Given the description of an element on the screen output the (x, y) to click on. 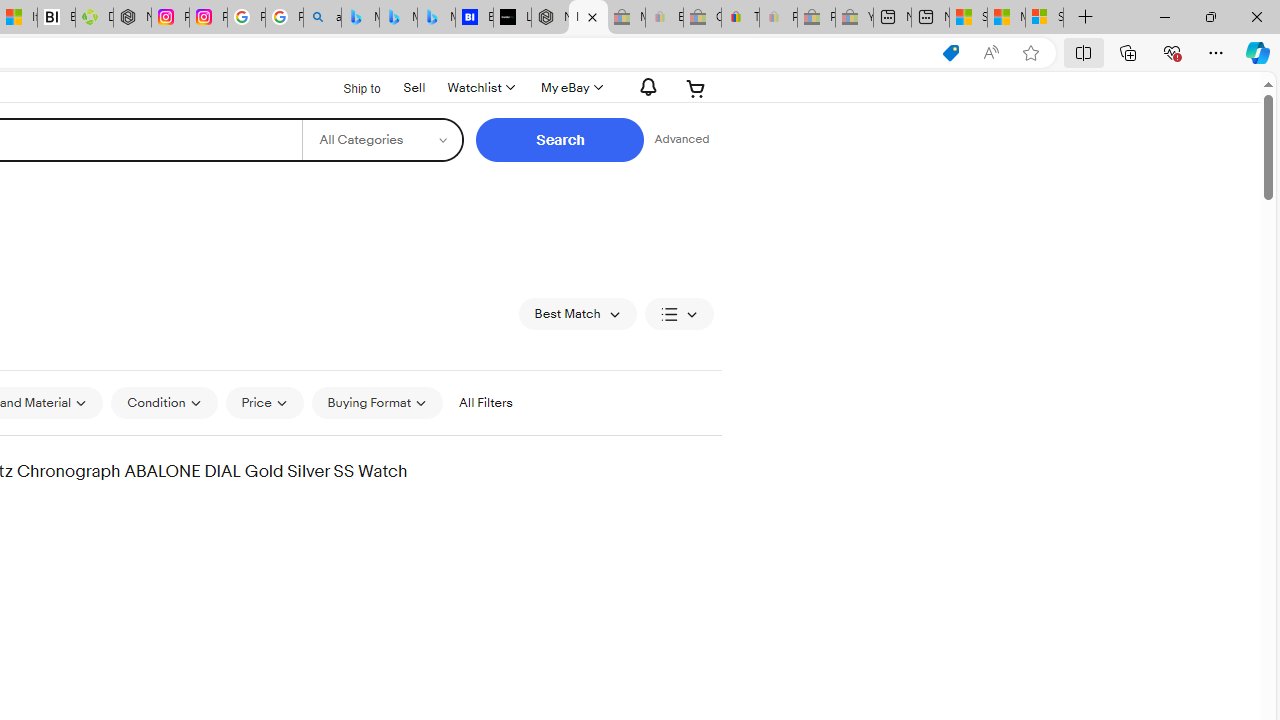
alabama high school quarterback dies - Search (321, 17)
This site has coupons! Shopping in Microsoft Edge (950, 53)
Buying Format (377, 403)
Nordace - Nordace Edin Collection (132, 17)
Price (264, 403)
Condition (164, 403)
My eBayExpand My eBay (569, 88)
WatchlistExpand Watch List (479, 88)
View: List View (678, 313)
Shanghai, China hourly forecast | Microsoft Weather (967, 17)
